Given the description of an element on the screen output the (x, y) to click on. 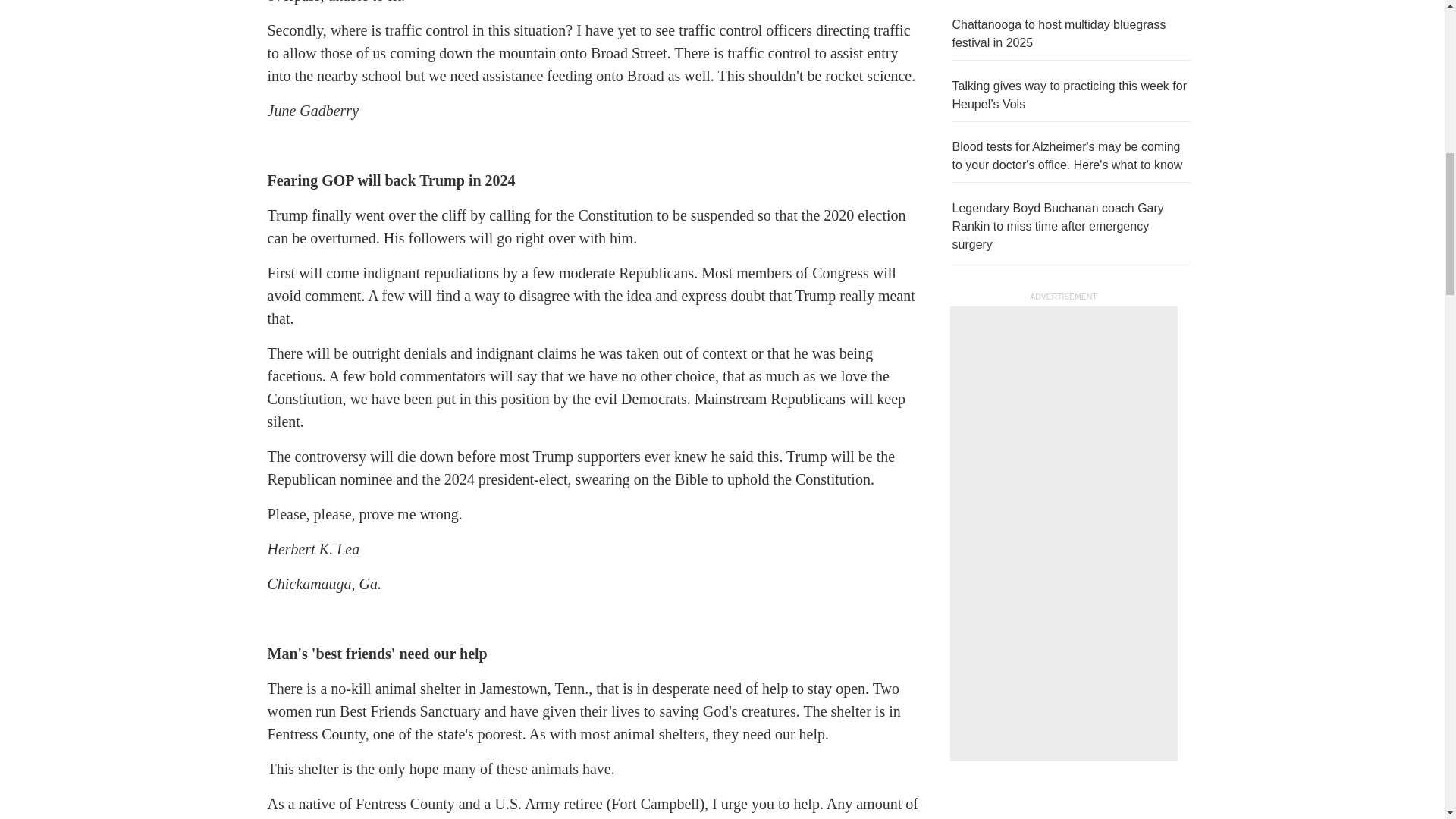
Chattanooga to host multiday bluegrass festival in 2025 (1059, 33)
